Given the description of an element on the screen output the (x, y) to click on. 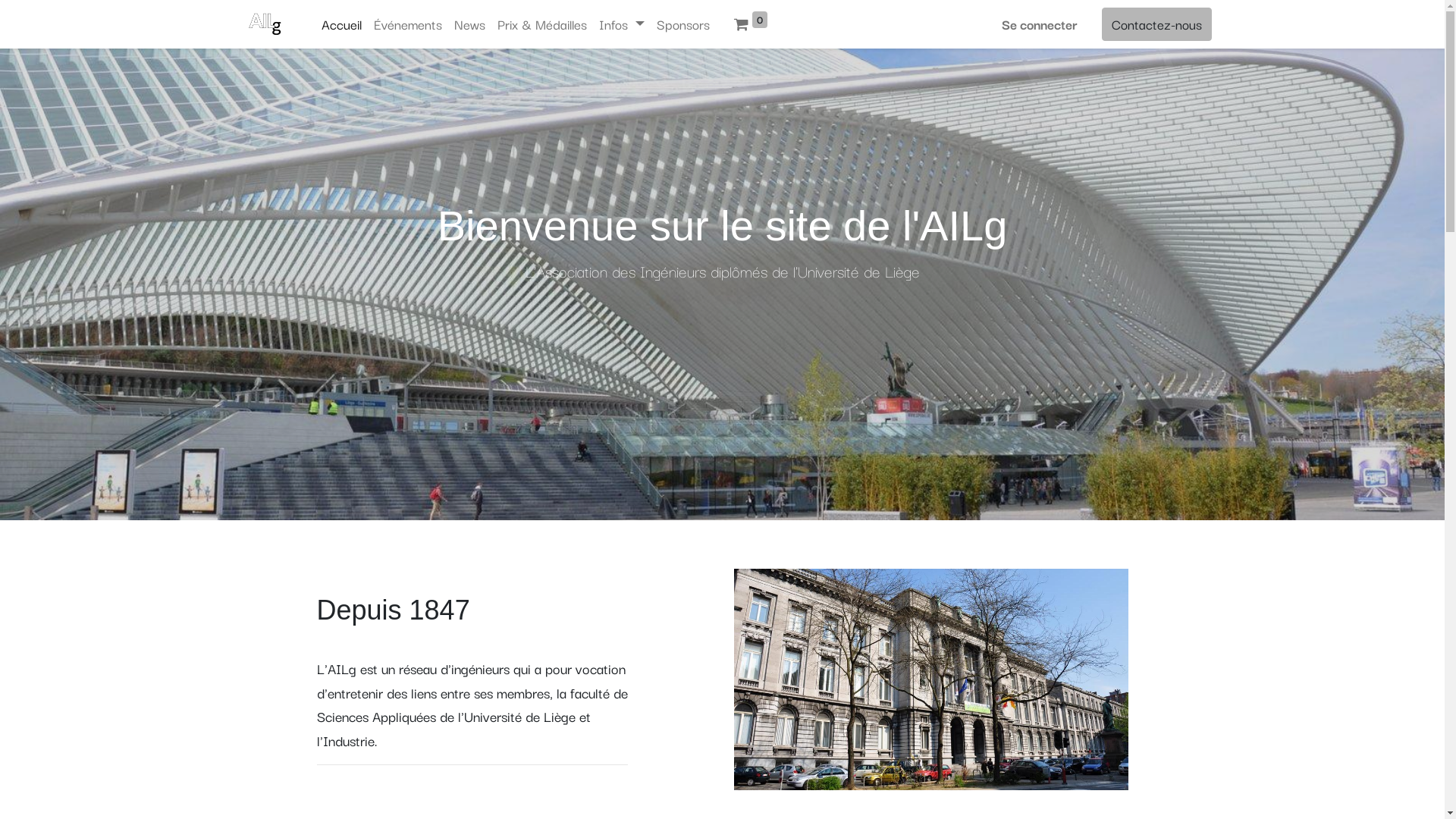
News Element type: text (469, 23)
0 Element type: text (750, 23)
Sponsors Element type: text (682, 23)
Infos Element type: text (621, 23)
AILG asbl Element type: hover (265, 24)
Accueil Element type: text (341, 23)
Se connecter Element type: text (1038, 23)
Contactez-nous Element type: text (1156, 23)
